Given the description of an element on the screen output the (x, y) to click on. 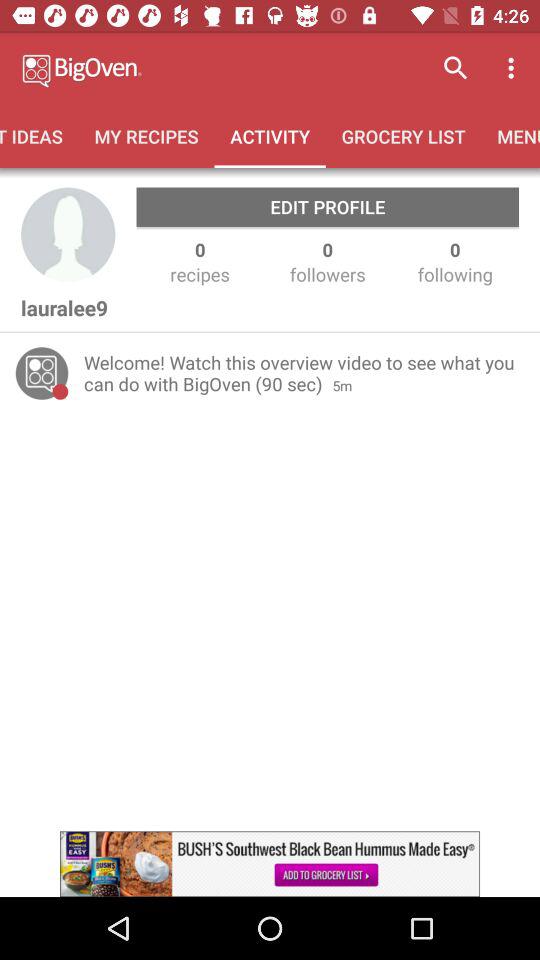
advertisement button (270, 864)
